Given the description of an element on the screen output the (x, y) to click on. 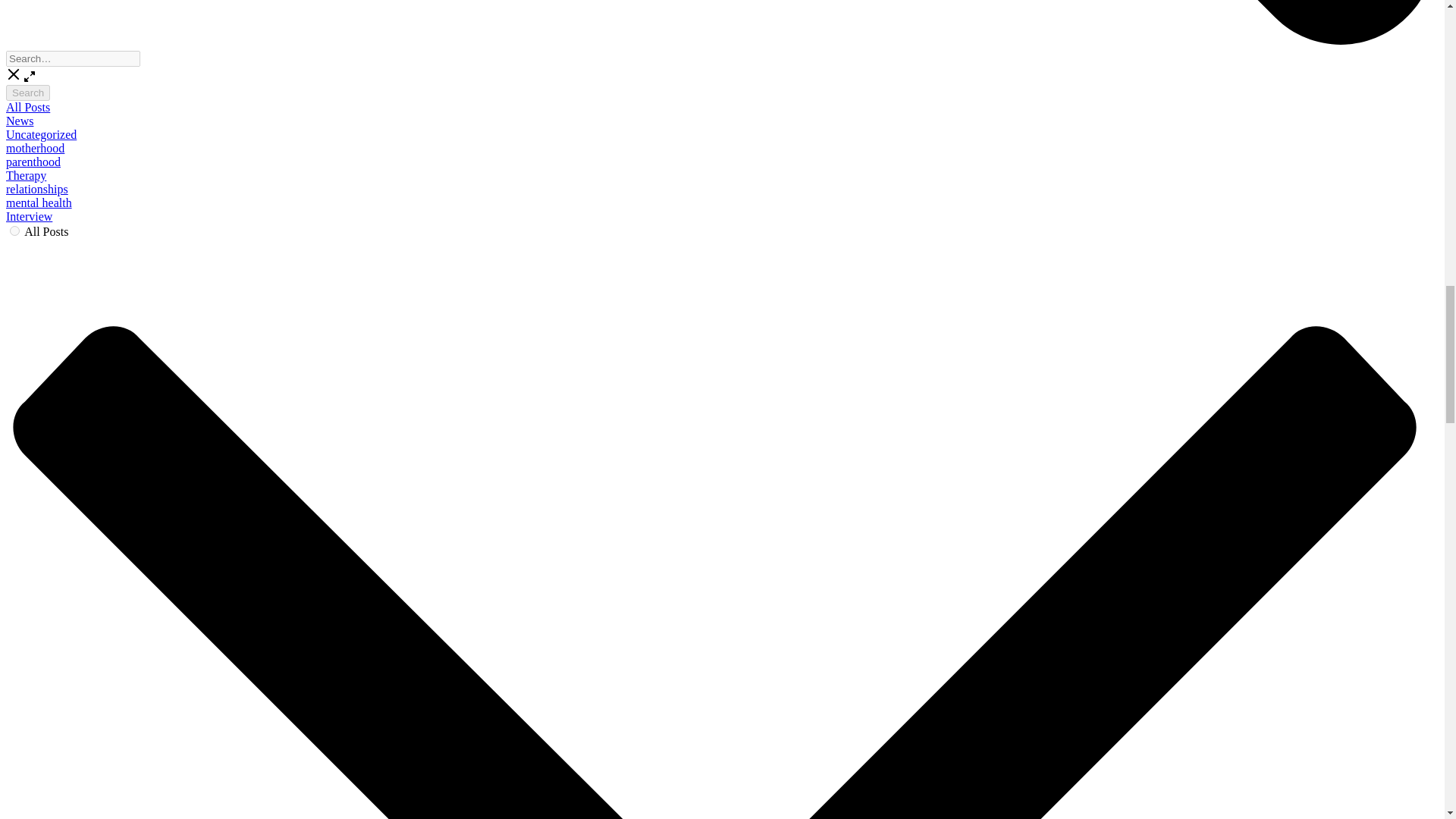
on (15, 230)
Uncategorized (41, 133)
relationships (36, 188)
News (19, 120)
Search (27, 92)
Search (27, 92)
All Posts (27, 106)
parenthood (33, 161)
Therapy (25, 174)
Interview (28, 215)
motherhood (34, 147)
mental health (38, 202)
